Given the description of an element on the screen output the (x, y) to click on. 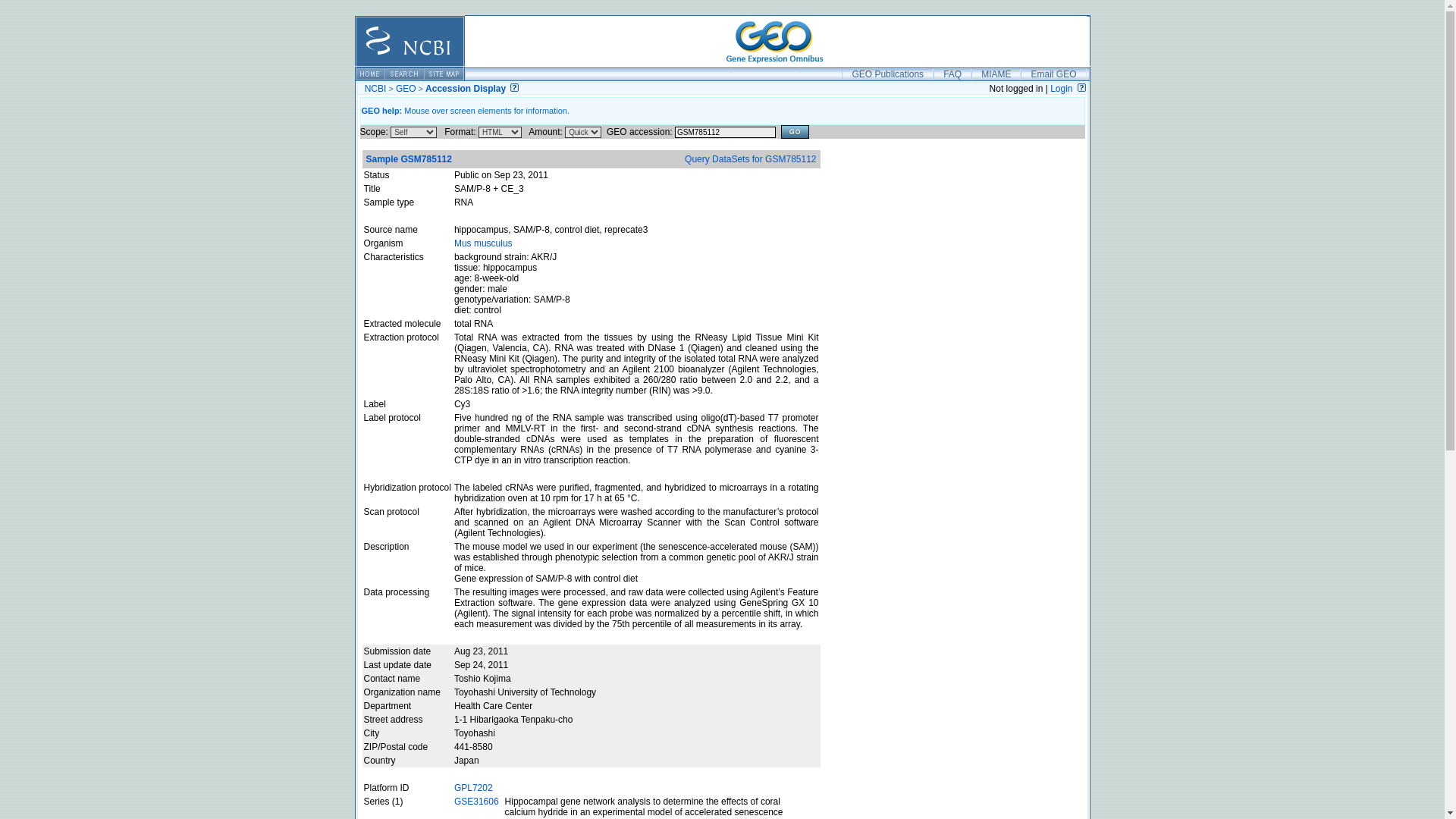
Email GEO (1053, 73)
GSM785112 (725, 131)
GPL7202 (473, 787)
Login (1060, 88)
GEO (406, 88)
Accession Display (465, 88)
NCBI (376, 88)
GEO Publications (887, 73)
FAQ (952, 73)
Mus musculus (483, 243)
GSE31606 (476, 801)
MIAME (995, 73)
Minimum Information About a Microarray Experiment (995, 73)
Sample GSM785112 (408, 158)
Query DataSets for GSM785112 (749, 158)
